Given the description of an element on the screen output the (x, y) to click on. 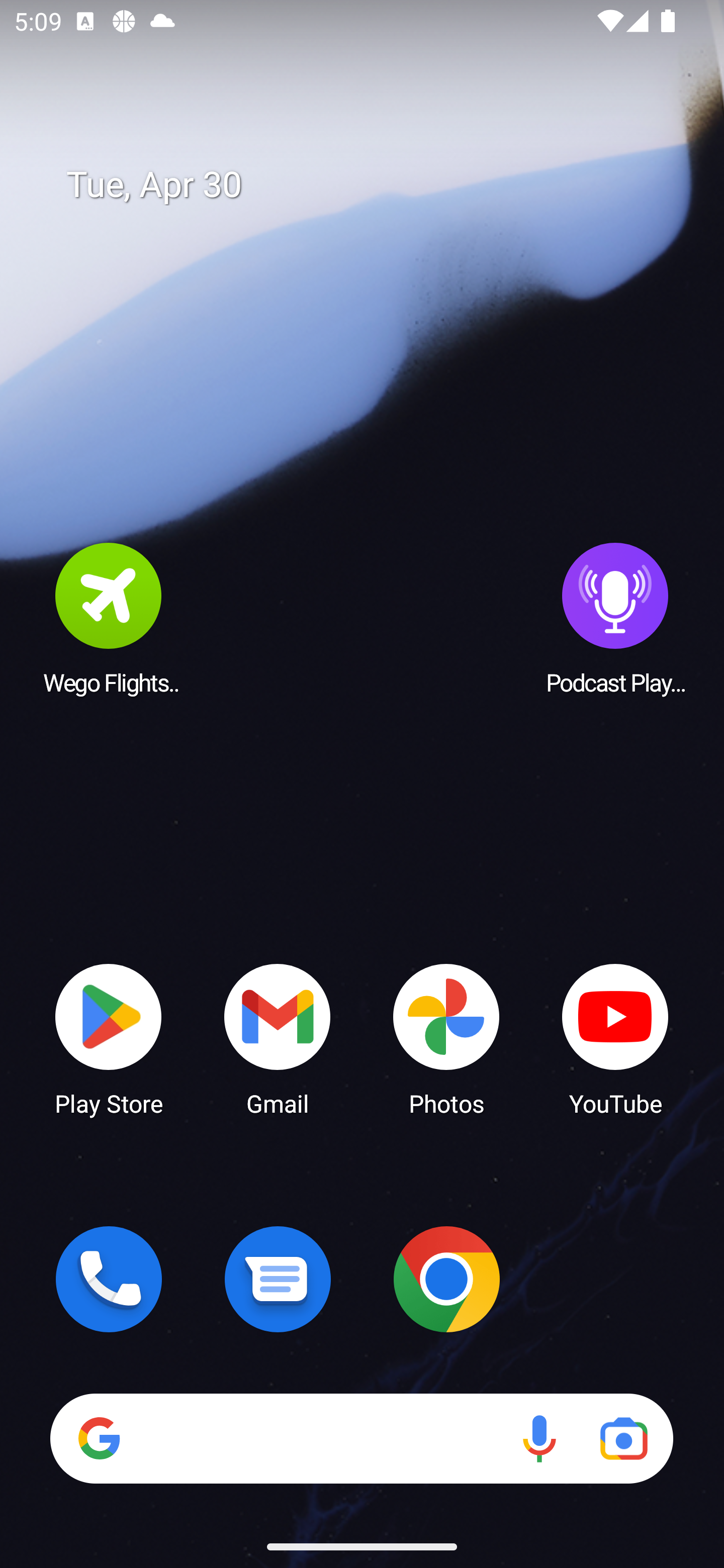
Tue, Apr 30 (375, 184)
Wego Flights & Hotels (108, 617)
Podcast Player (615, 617)
Play Store (108, 1038)
Gmail (277, 1038)
Photos (445, 1038)
YouTube (615, 1038)
Phone (108, 1279)
Messages (277, 1279)
Chrome (446, 1279)
Voice search (539, 1438)
Google Lens (623, 1438)
